Given the description of an element on the screen output the (x, y) to click on. 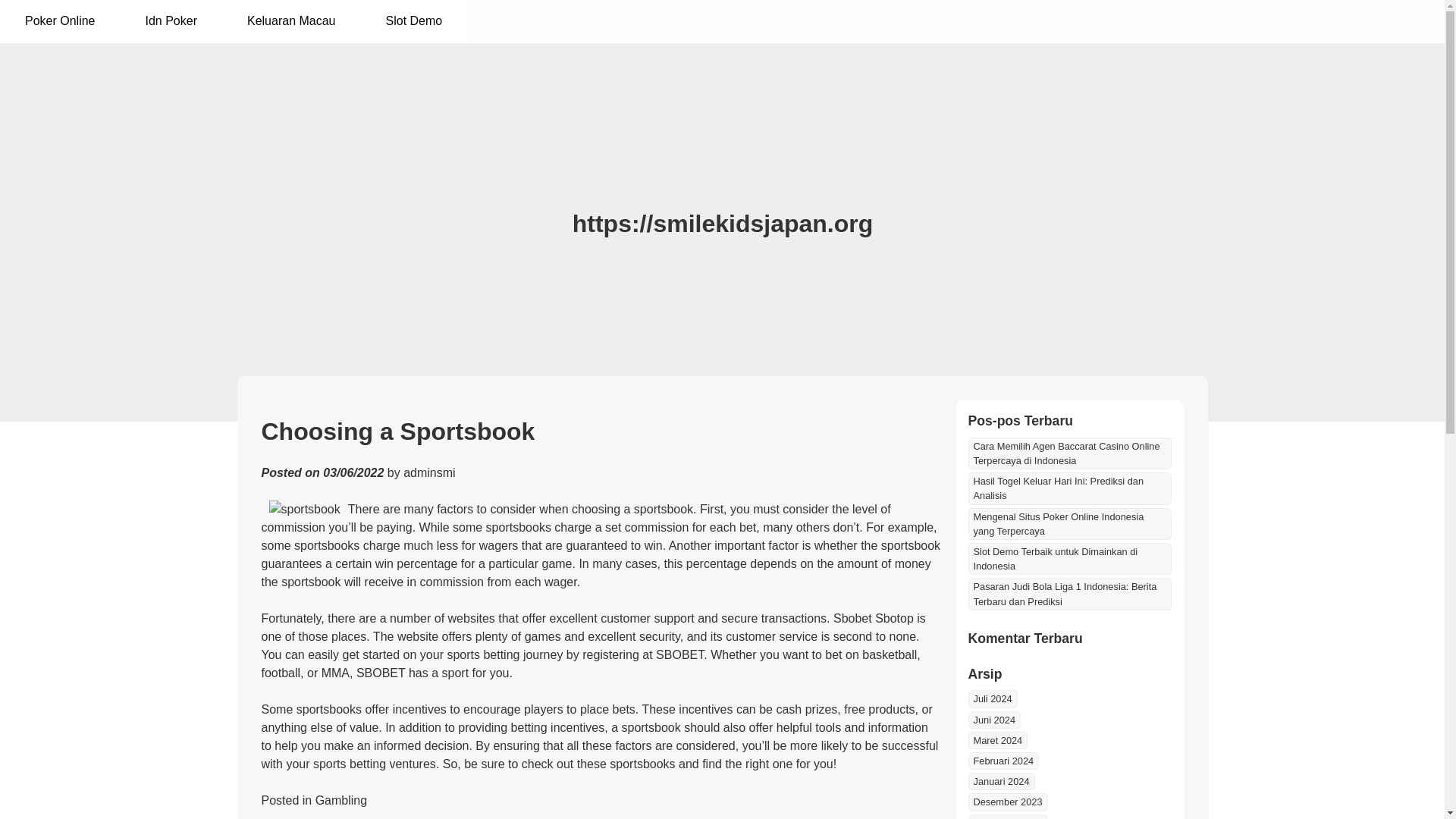
November 2023 (1007, 816)
Mengenal Situs Poker Online Indonesia yang Terpercaya (1069, 523)
Hasil Togel Keluar Hari Ini: Prediksi dan Analisis (1069, 488)
Poker Online (60, 21)
Juli 2024 (992, 698)
Gambling (340, 799)
Juni 2024 (994, 719)
Idn Poker (170, 21)
Slot Demo (413, 21)
Januari 2024 (1000, 781)
Februari 2024 (1003, 760)
Slot Demo Terbaik untuk Dimainkan di Indonesia (1069, 558)
Desember 2023 (1007, 801)
